Given the description of an element on the screen output the (x, y) to click on. 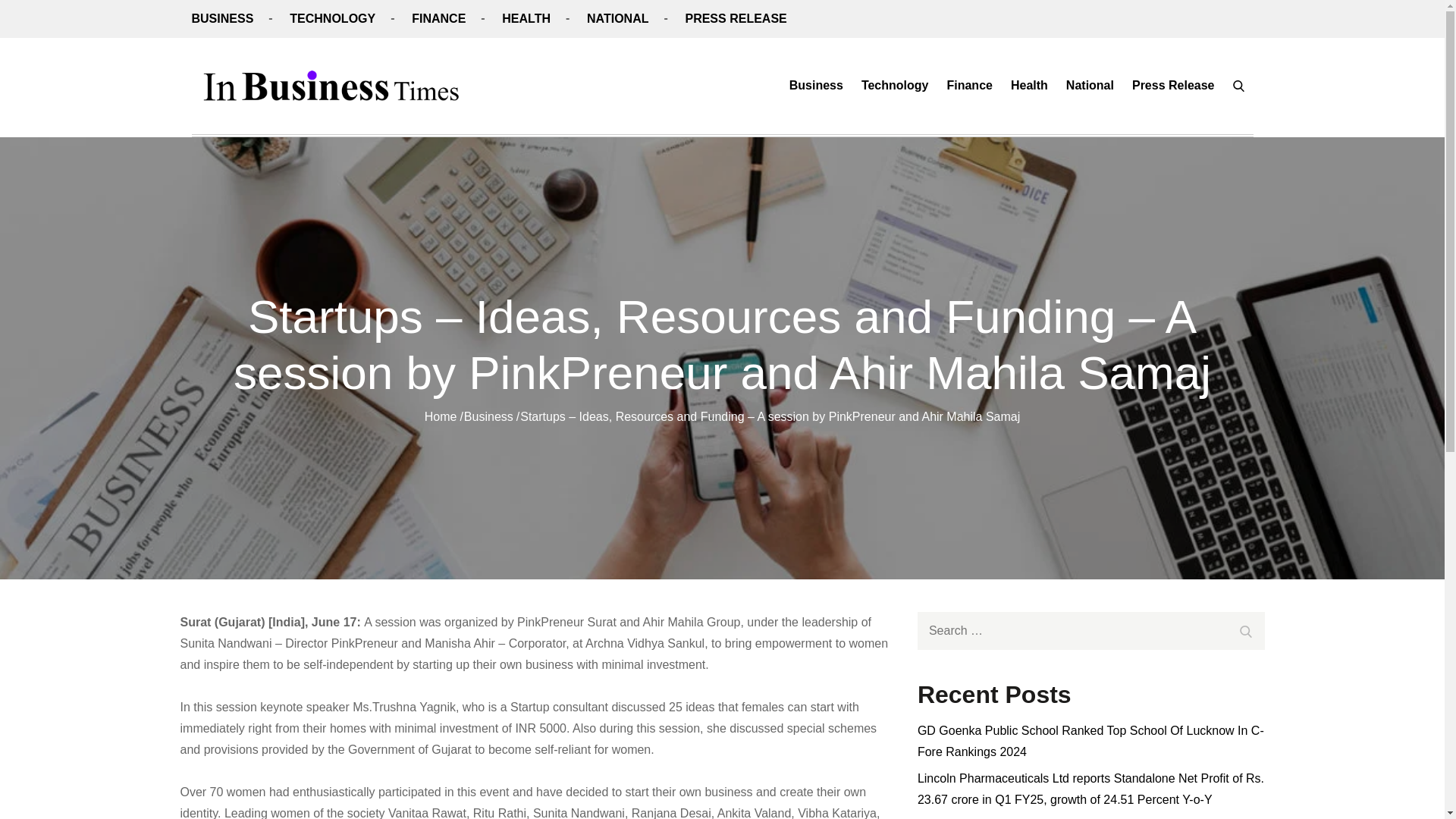
TECHNOLOGY (332, 18)
FINANCE (438, 18)
Health (1029, 85)
BUSINESS (221, 18)
HEALTH (526, 18)
National (1089, 85)
NATIONAL (616, 18)
Home (441, 416)
Press Release (1173, 85)
